Given the description of an element on the screen output the (x, y) to click on. 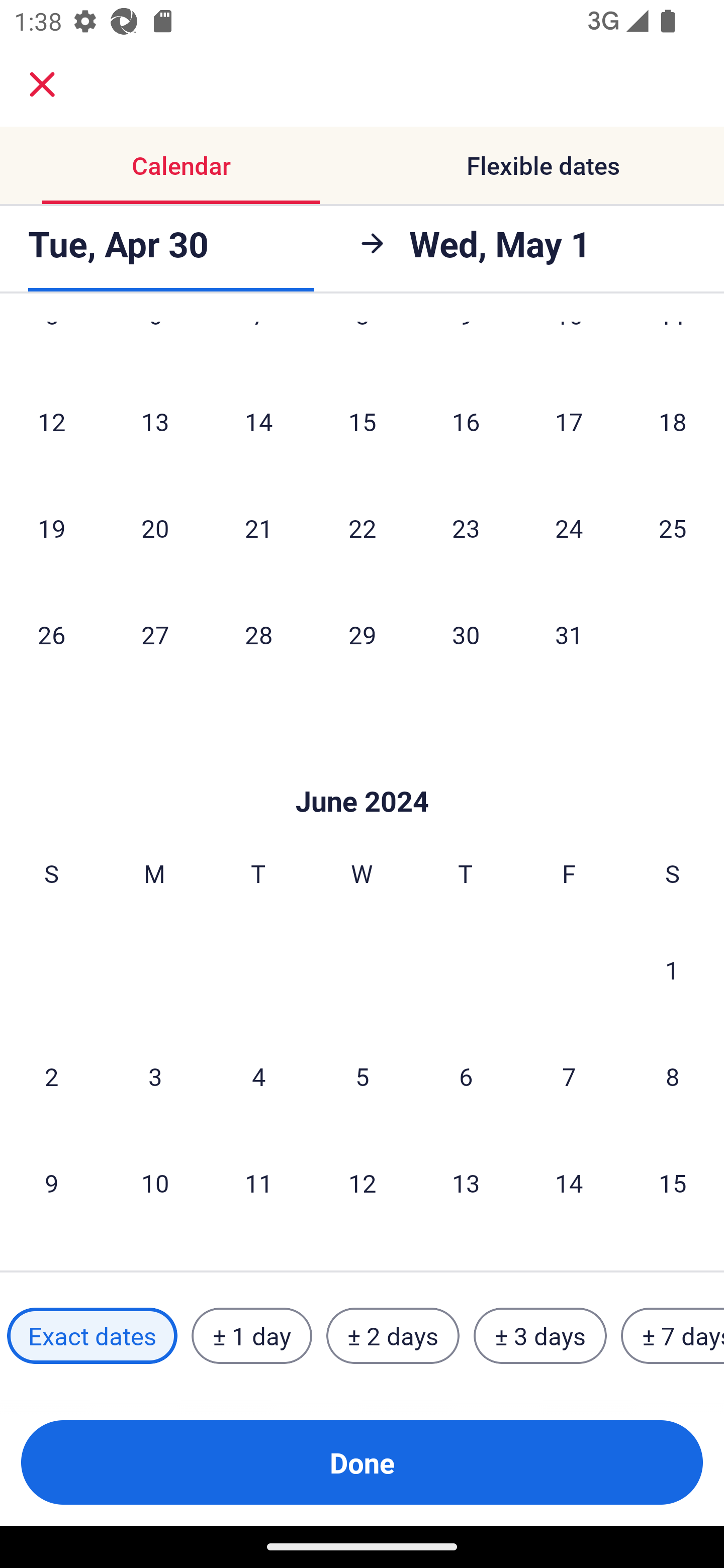
close. (42, 84)
Flexible dates (542, 164)
12 Sunday, May 12, 2024 (51, 421)
13 Monday, May 13, 2024 (155, 421)
14 Tuesday, May 14, 2024 (258, 421)
15 Wednesday, May 15, 2024 (362, 421)
16 Thursday, May 16, 2024 (465, 421)
17 Friday, May 17, 2024 (569, 421)
18 Saturday, May 18, 2024 (672, 421)
19 Sunday, May 19, 2024 (51, 528)
20 Monday, May 20, 2024 (155, 528)
21 Tuesday, May 21, 2024 (258, 528)
22 Wednesday, May 22, 2024 (362, 528)
23 Thursday, May 23, 2024 (465, 528)
24 Friday, May 24, 2024 (569, 528)
25 Saturday, May 25, 2024 (672, 528)
26 Sunday, May 26, 2024 (51, 634)
27 Monday, May 27, 2024 (155, 634)
28 Tuesday, May 28, 2024 (258, 634)
29 Wednesday, May 29, 2024 (362, 634)
30 Thursday, May 30, 2024 (465, 634)
31 Friday, May 31, 2024 (569, 634)
Skip to Done (362, 771)
1 Saturday, June 1, 2024 (672, 969)
2 Sunday, June 2, 2024 (51, 1076)
3 Monday, June 3, 2024 (155, 1076)
4 Tuesday, June 4, 2024 (258, 1076)
5 Wednesday, June 5, 2024 (362, 1076)
6 Thursday, June 6, 2024 (465, 1076)
7 Friday, June 7, 2024 (569, 1076)
8 Saturday, June 8, 2024 (672, 1076)
9 Sunday, June 9, 2024 (51, 1182)
10 Monday, June 10, 2024 (155, 1182)
11 Tuesday, June 11, 2024 (258, 1182)
12 Wednesday, June 12, 2024 (362, 1182)
13 Thursday, June 13, 2024 (465, 1182)
14 Friday, June 14, 2024 (569, 1182)
15 Saturday, June 15, 2024 (672, 1182)
Exact dates (92, 1335)
± 1 day (251, 1335)
± 2 days (392, 1335)
± 3 days (539, 1335)
± 7 days (672, 1335)
Done (361, 1462)
